Given the description of an element on the screen output the (x, y) to click on. 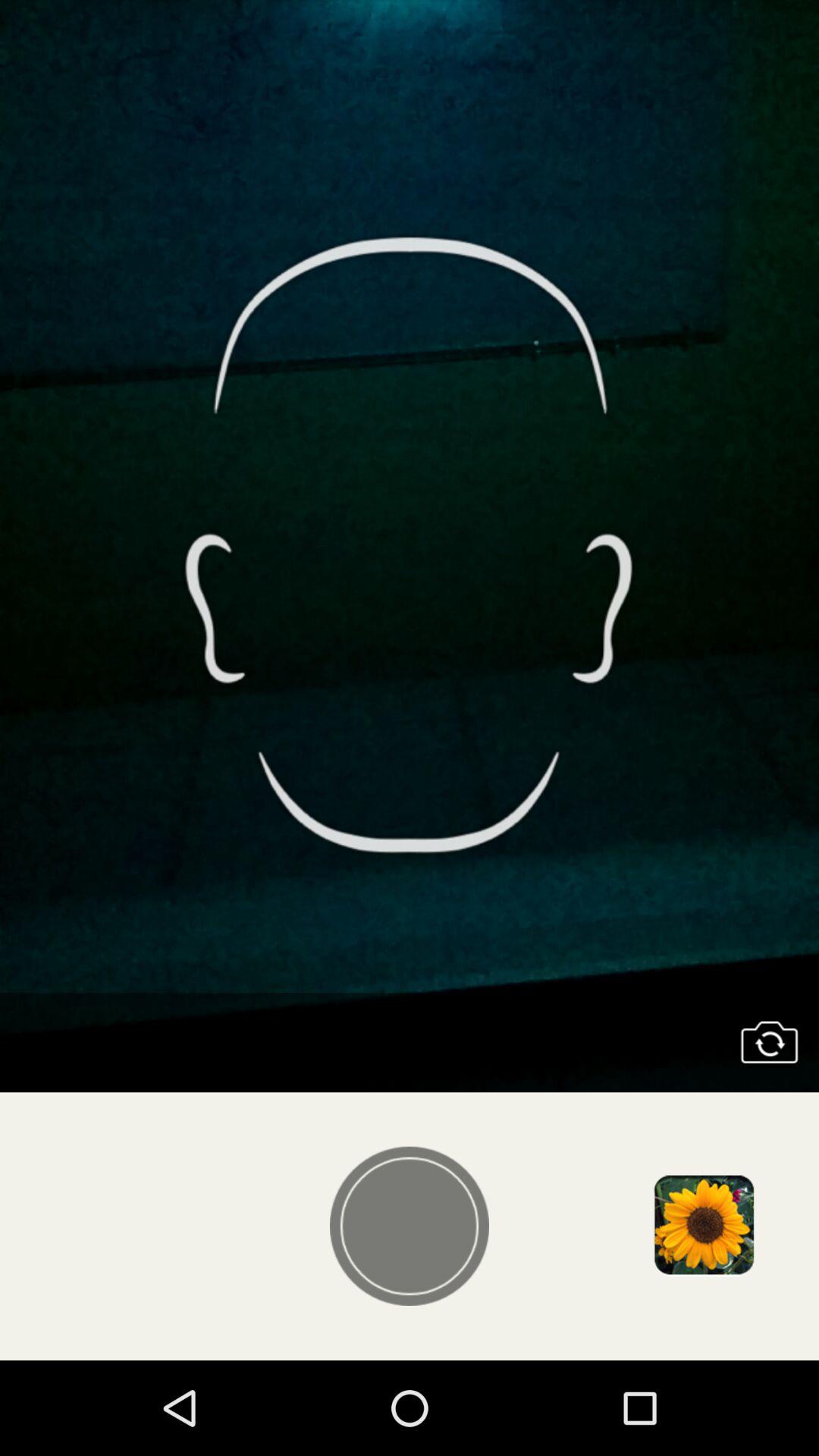
open image gallery (703, 1225)
